Given the description of an element on the screen output the (x, y) to click on. 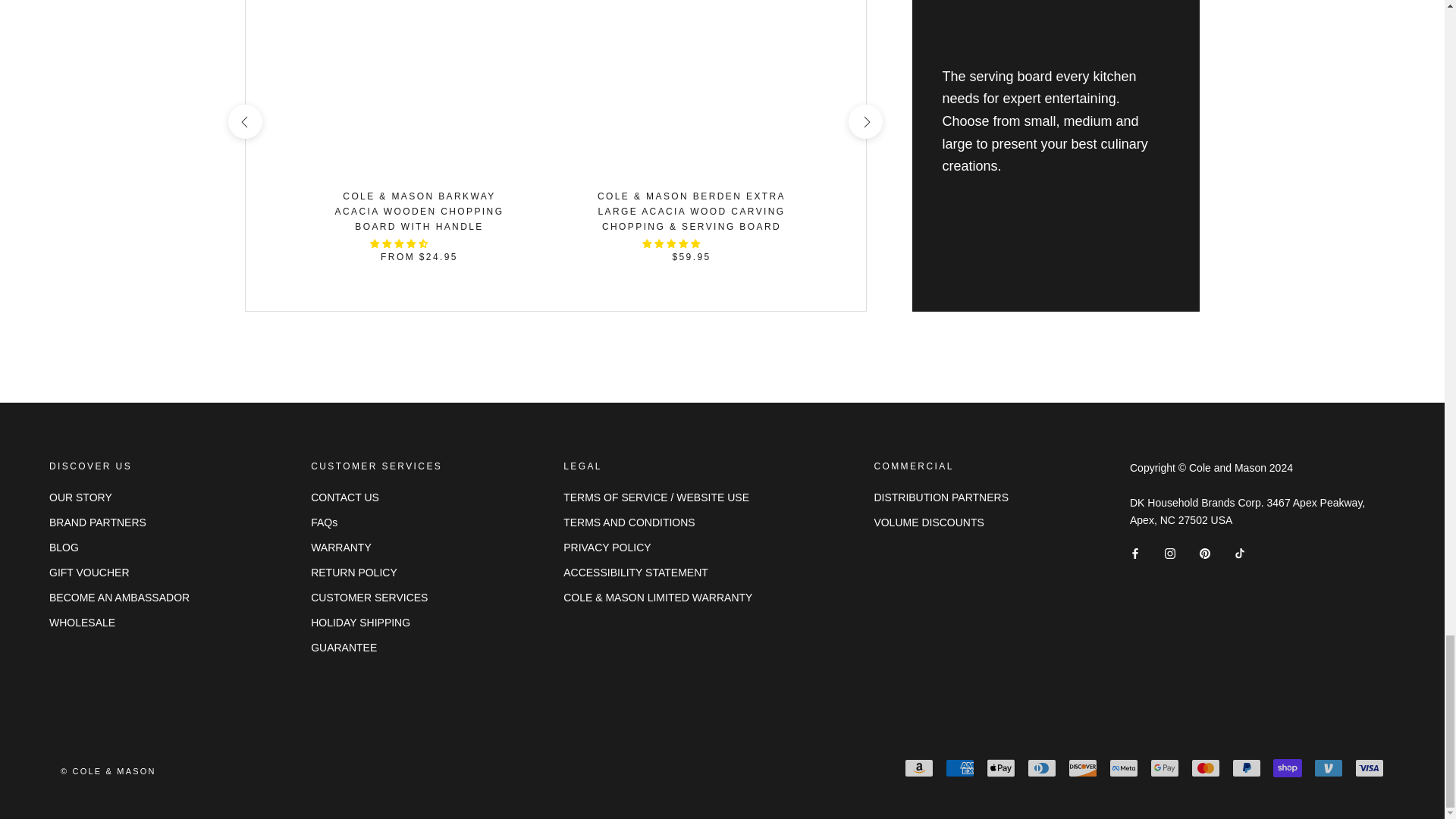
Diners Club (1042, 768)
Amazon (918, 768)
Visa (1369, 768)
Google Pay (1164, 768)
Mastercard (1205, 768)
Shop Pay (1286, 768)
Discover (1082, 768)
Venmo (1328, 768)
PayPal (1245, 768)
Apple Pay (1000, 768)
American Express (959, 768)
Meta Pay (1123, 768)
